Given the description of an element on the screen output the (x, y) to click on. 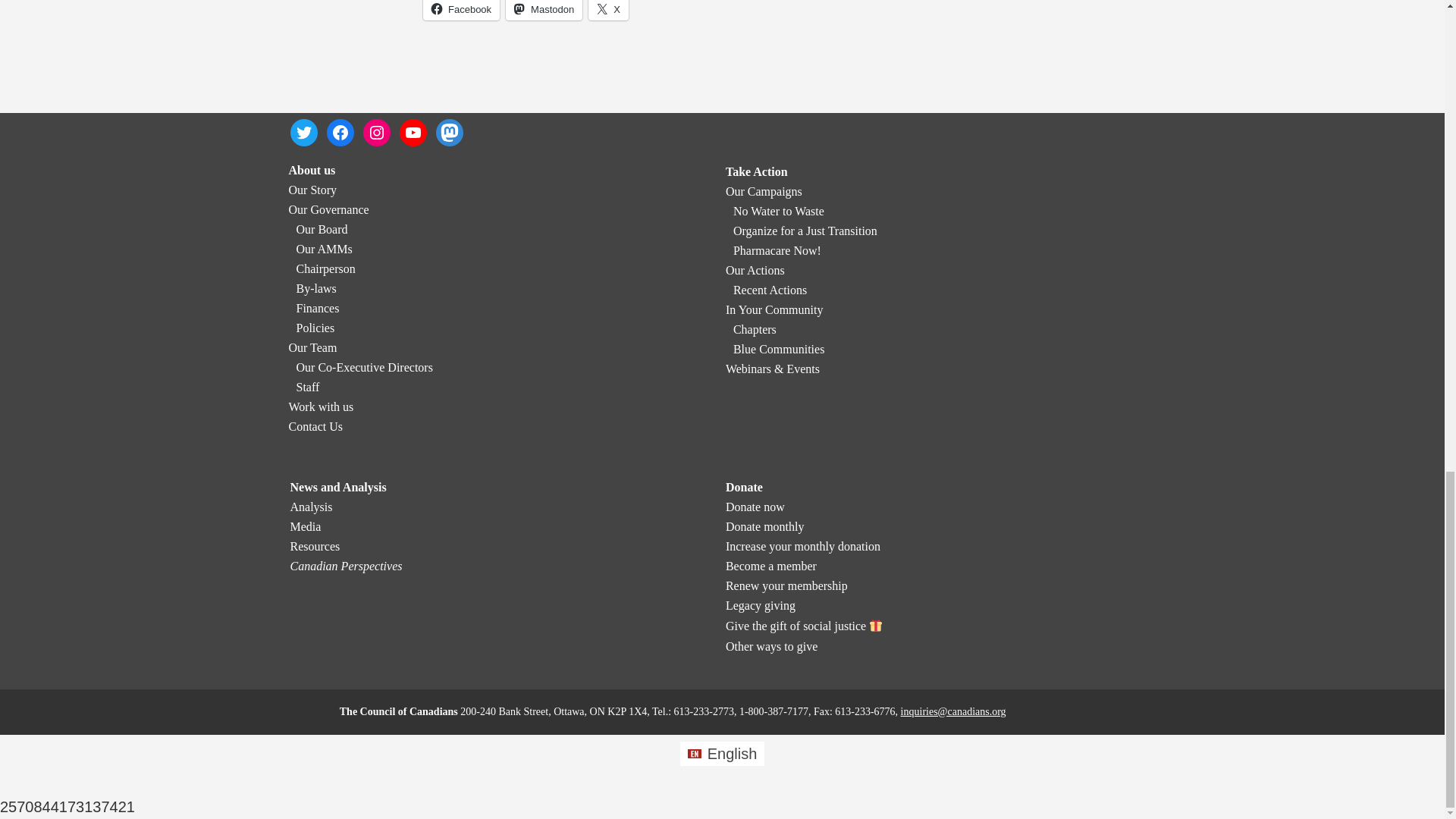
About us (311, 169)
Click to share on Facebook (461, 10)
Facebook (461, 10)
Chairperson (325, 268)
X (608, 10)
Mastodon (543, 10)
Click to share on X (608, 10)
Click to share on Mastodon (543, 10)
Our Governance (328, 209)
Our Board (321, 228)
